Given the description of an element on the screen output the (x, y) to click on. 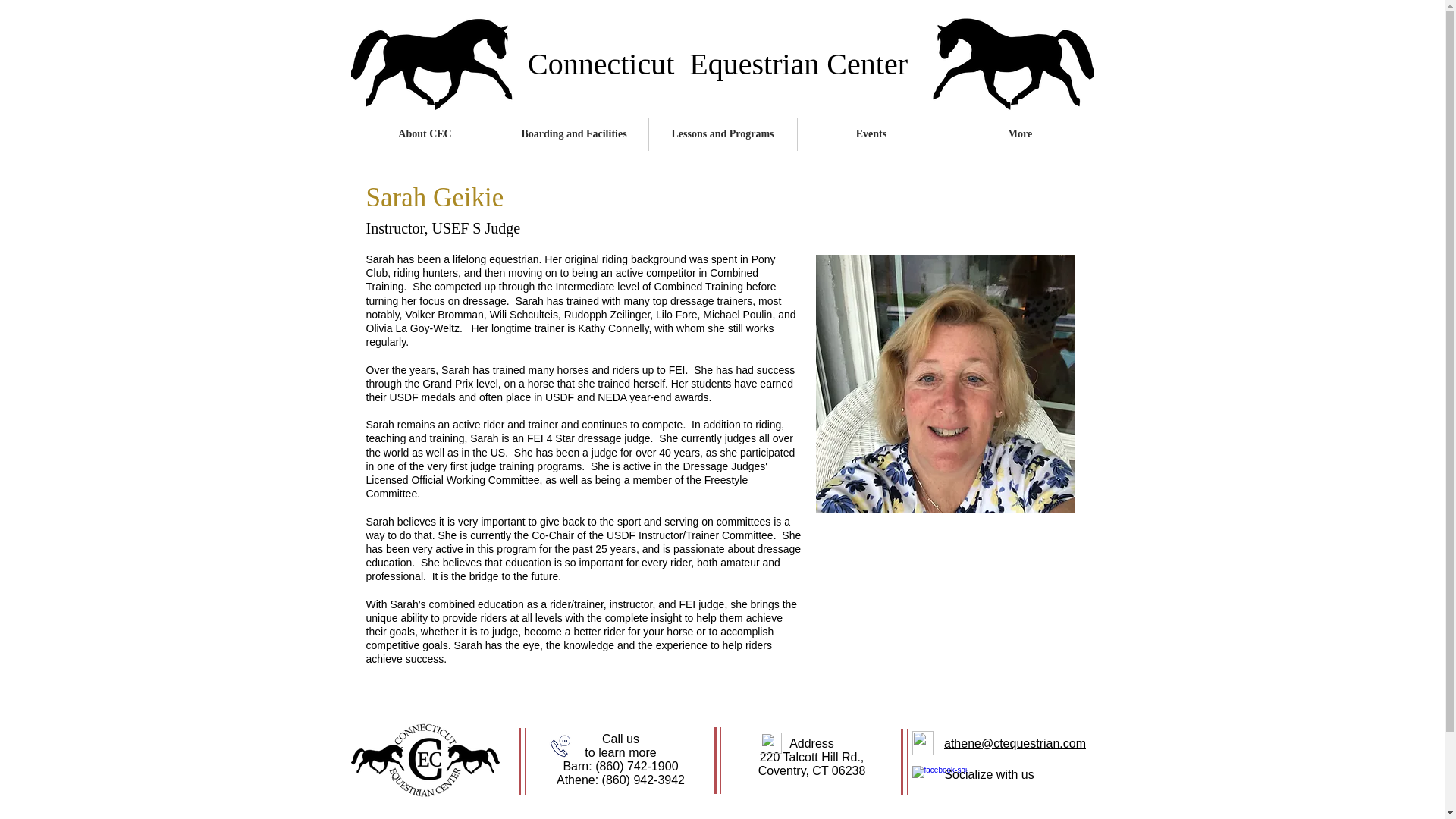
Lessons and Programs (722, 133)
Events (870, 133)
Boarding and Facilities (573, 133)
Connecticut  Equestrian Center (717, 63)
About CEC (424, 133)
